Given the description of an element on the screen output the (x, y) to click on. 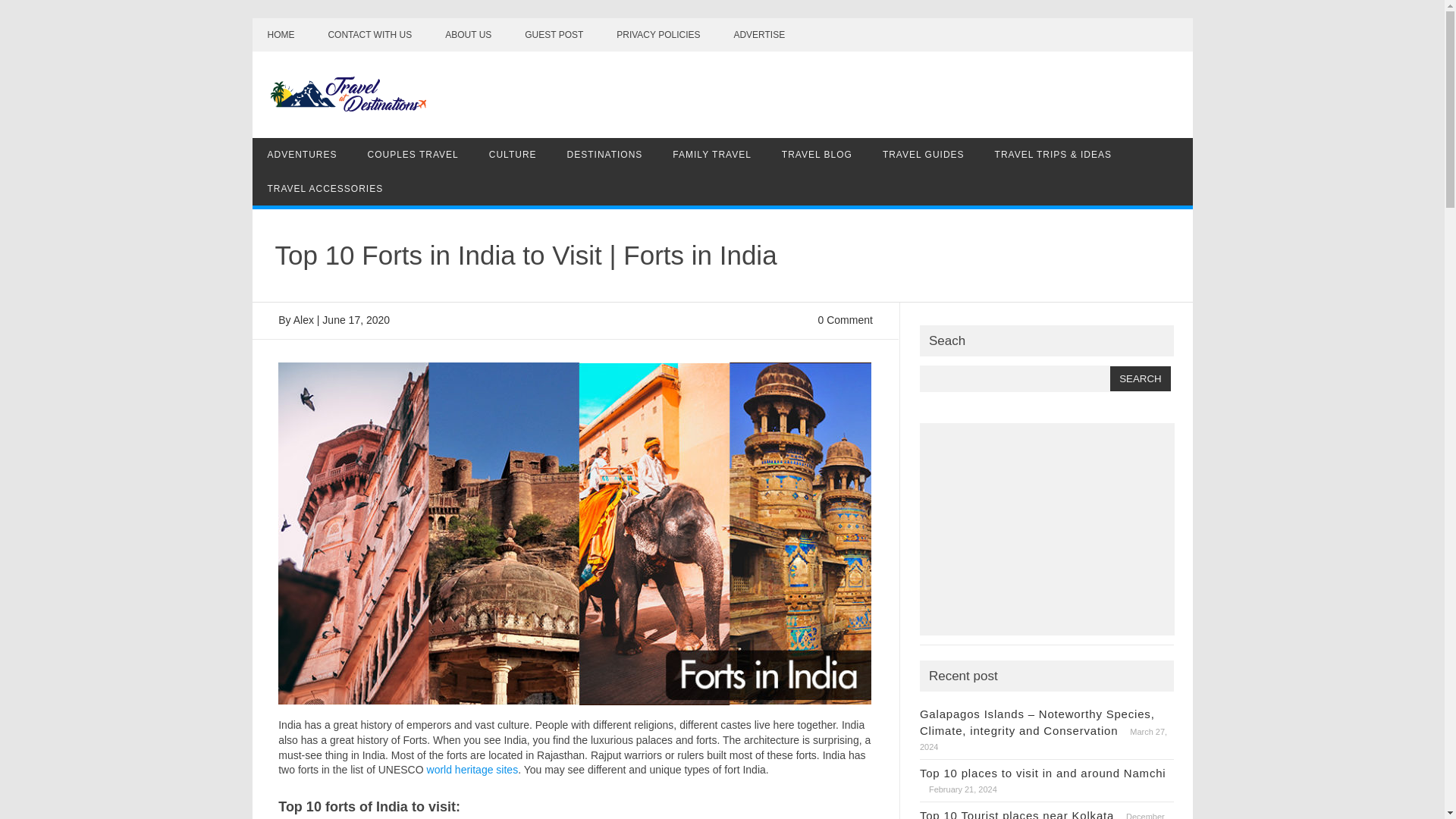
TRAVEL GUIDES (923, 154)
CULTURE (512, 154)
CONTACT WITH US (369, 34)
ABOUT US (467, 34)
world heritage sites (472, 769)
HOME (279, 34)
FAMILY TRAVEL (711, 154)
PRIVACY POLICIES (657, 34)
Advertisement (1047, 529)
GUEST POST (553, 34)
TRAVEL ACCESSORIES (324, 188)
TRAVEL BLOG (817, 154)
ADVENTURES (301, 154)
Search (1139, 378)
